Given the description of an element on the screen output the (x, y) to click on. 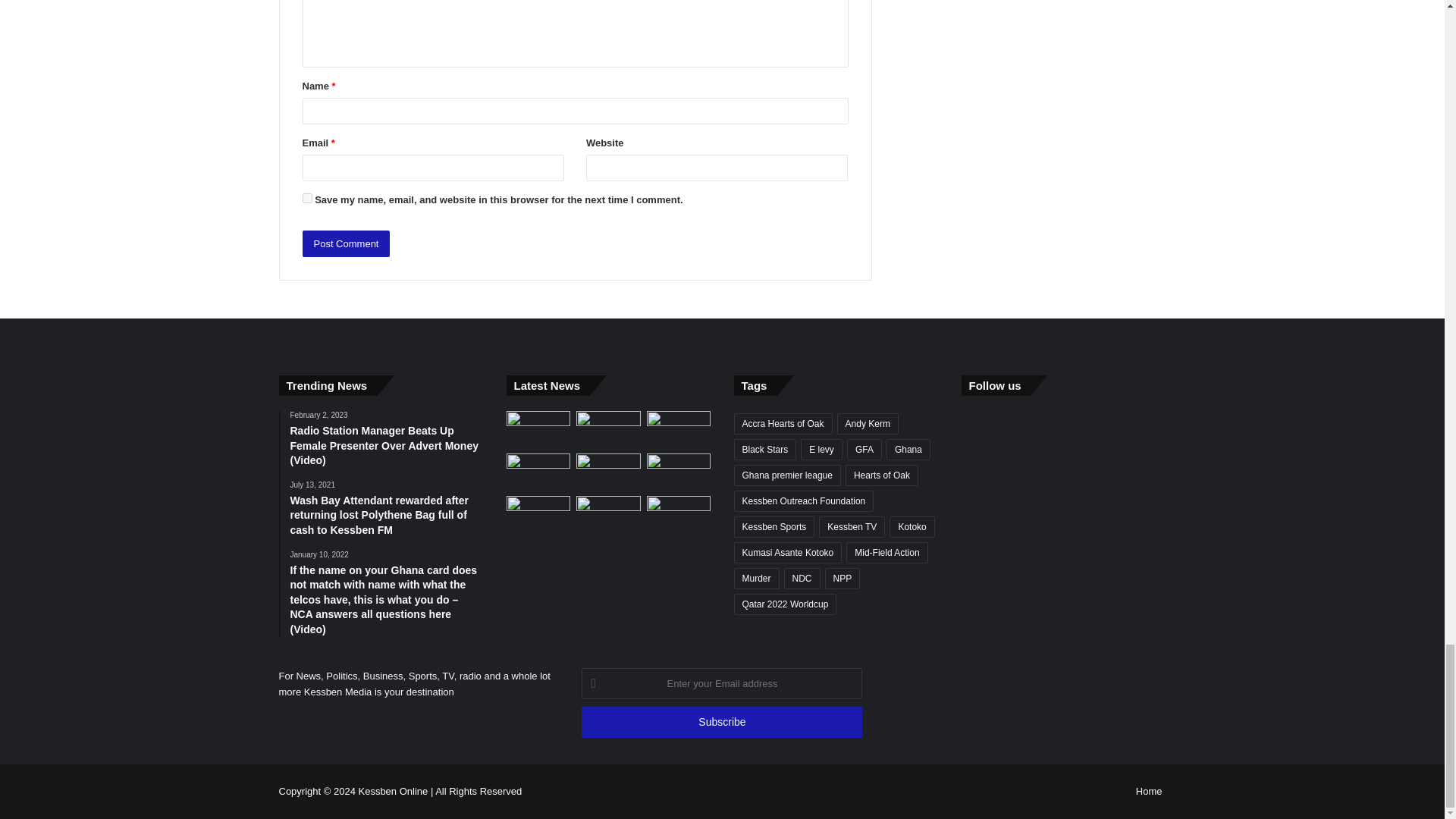
Post Comment (345, 243)
Subscribe (720, 721)
yes (306, 198)
